Given the description of an element on the screen output the (x, y) to click on. 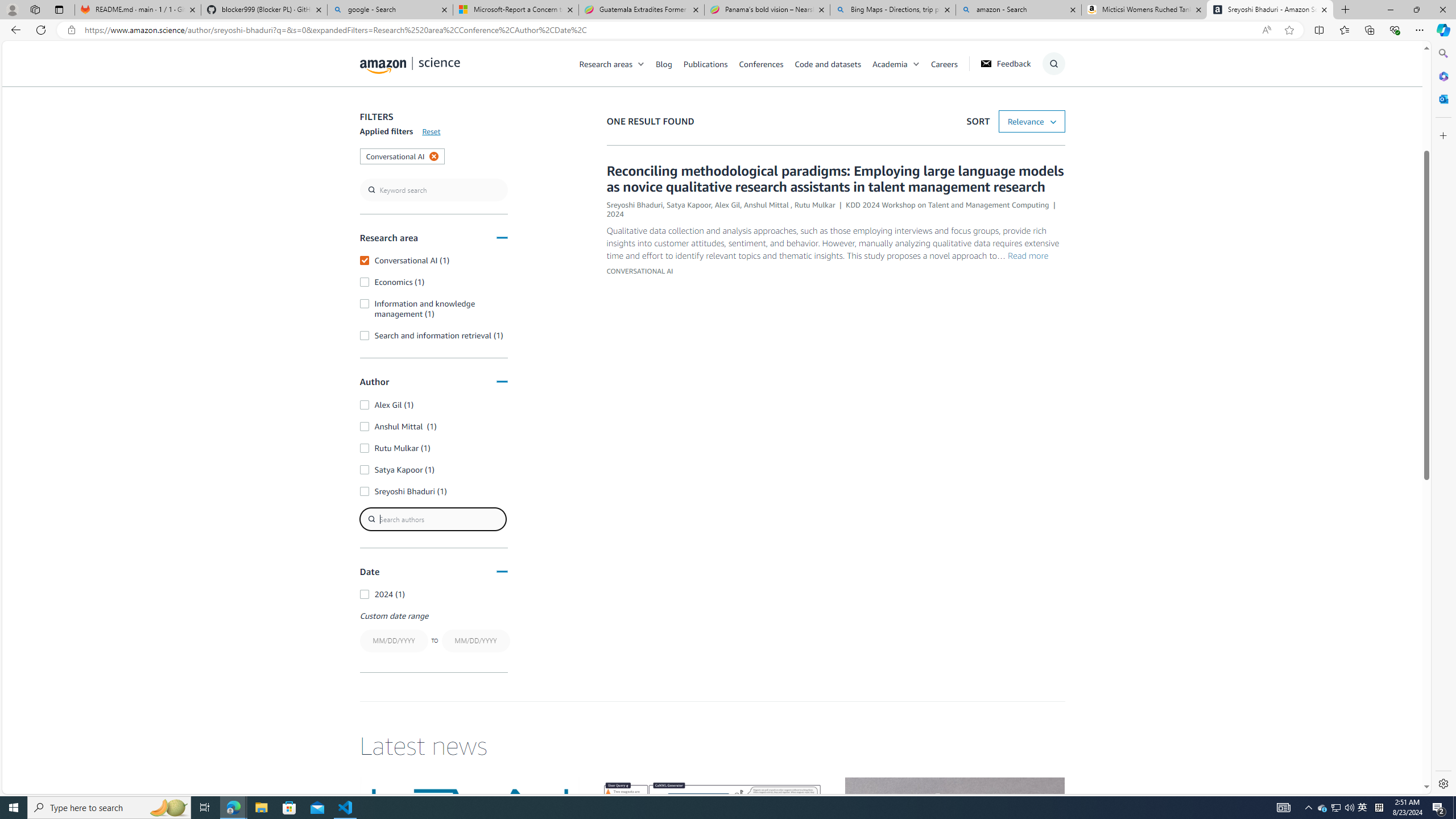
Class: chevron (916, 66)
Submit Search (1049, 108)
Publications (710, 63)
Academia (889, 63)
Custom date rangeTO (433, 632)
KDD 2024 Workshop on Talent and Management Computing (947, 204)
Research areas (617, 63)
Open Sub Navigation (916, 63)
